Given the description of an element on the screen output the (x, y) to click on. 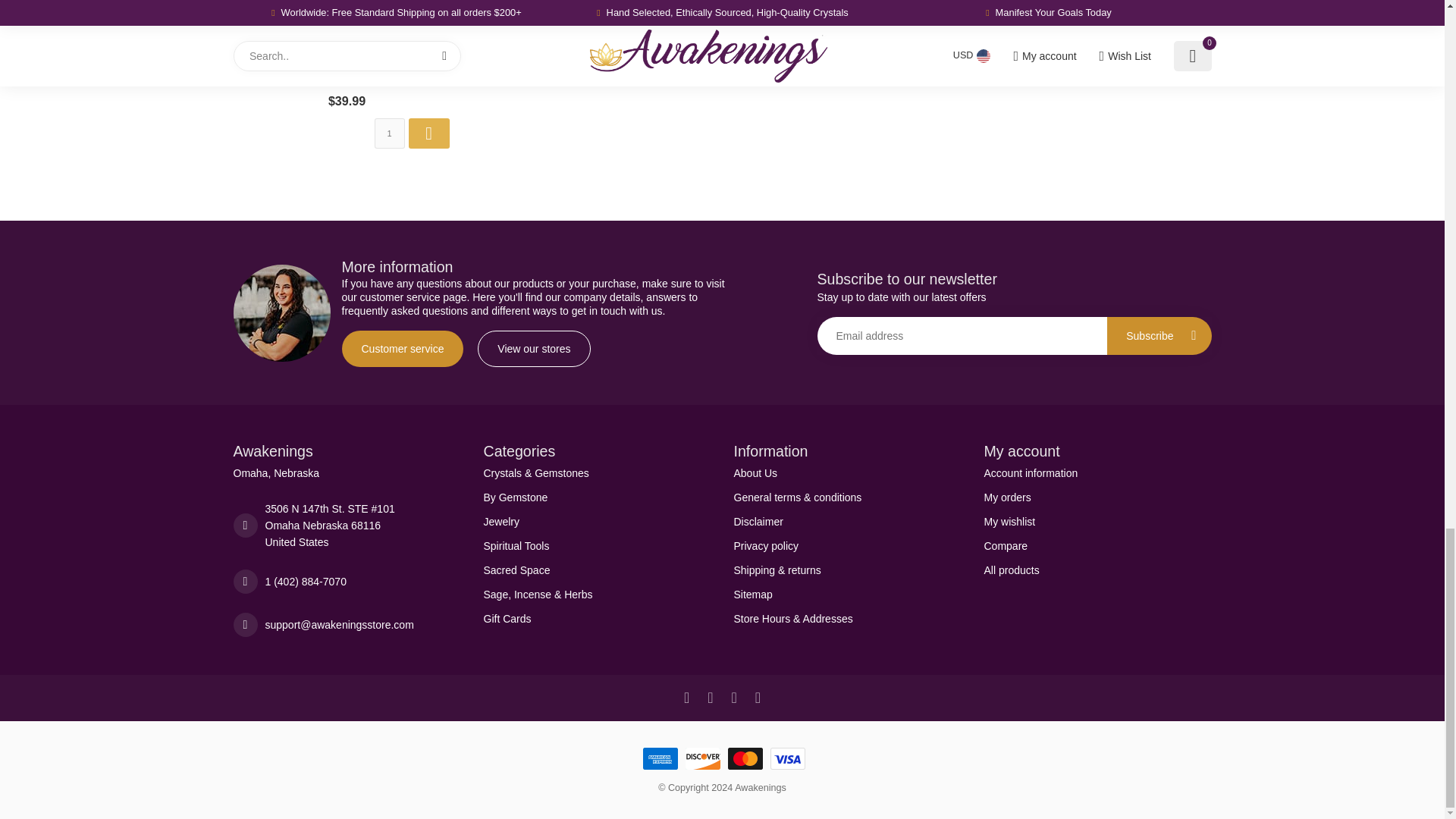
Privacy policy (846, 545)
Sitemap (846, 593)
1 (389, 132)
Ajoite  - Rough Raw Natural (346, 29)
Ajoite  - Rough Raw Natural (346, 76)
Disclaimer (846, 520)
About Us (846, 472)
